Given the description of an element on the screen output the (x, y) to click on. 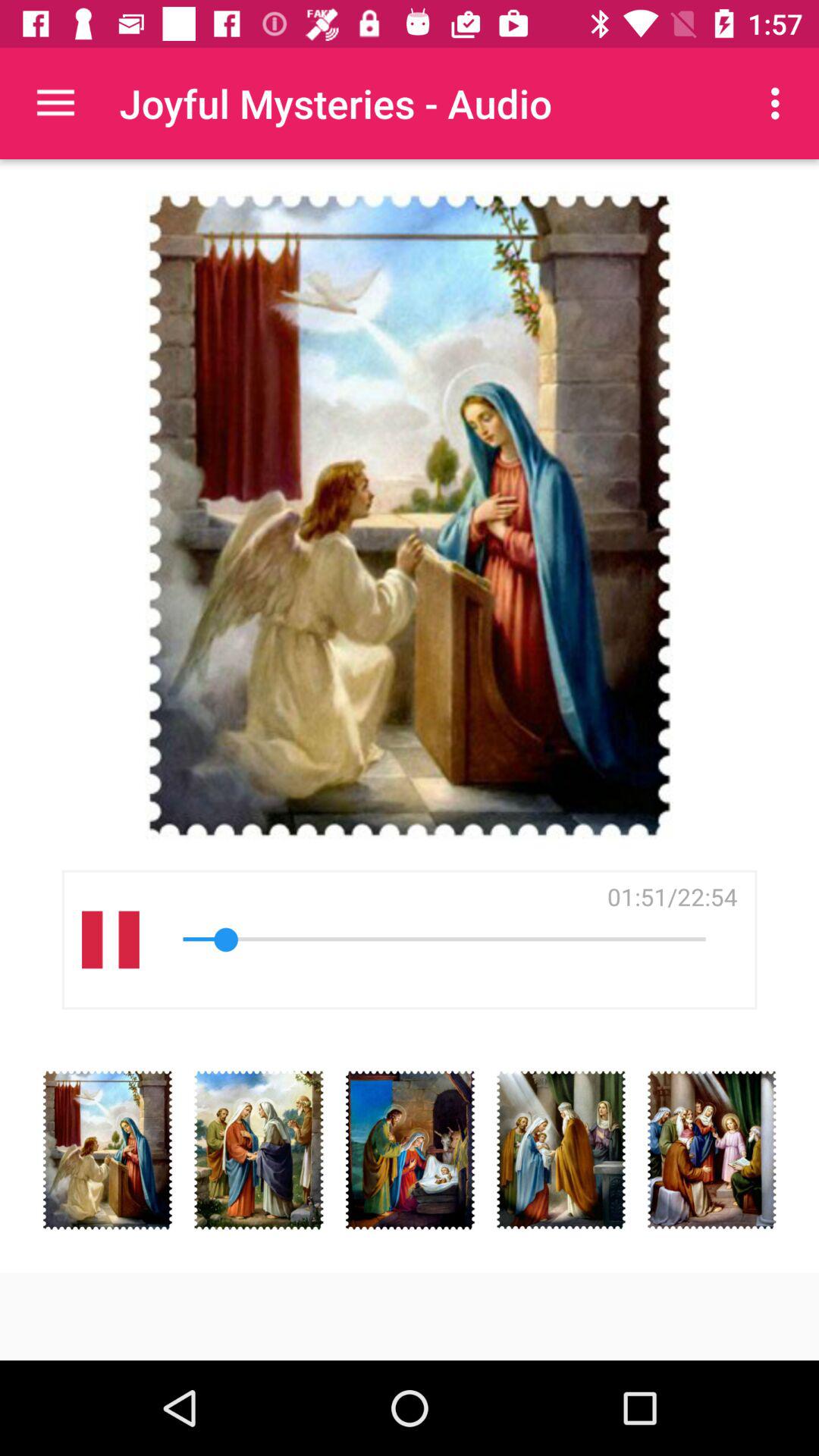
tap icon above 01 52 22 item (779, 103)
